Given the description of an element on the screen output the (x, y) to click on. 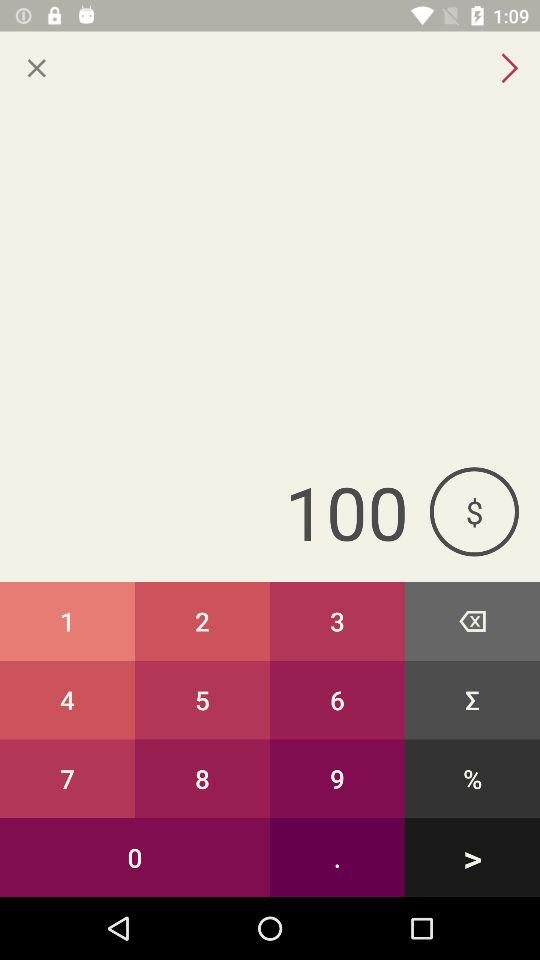
turn on item above 6 (472, 620)
